Given the description of an element on the screen output the (x, y) to click on. 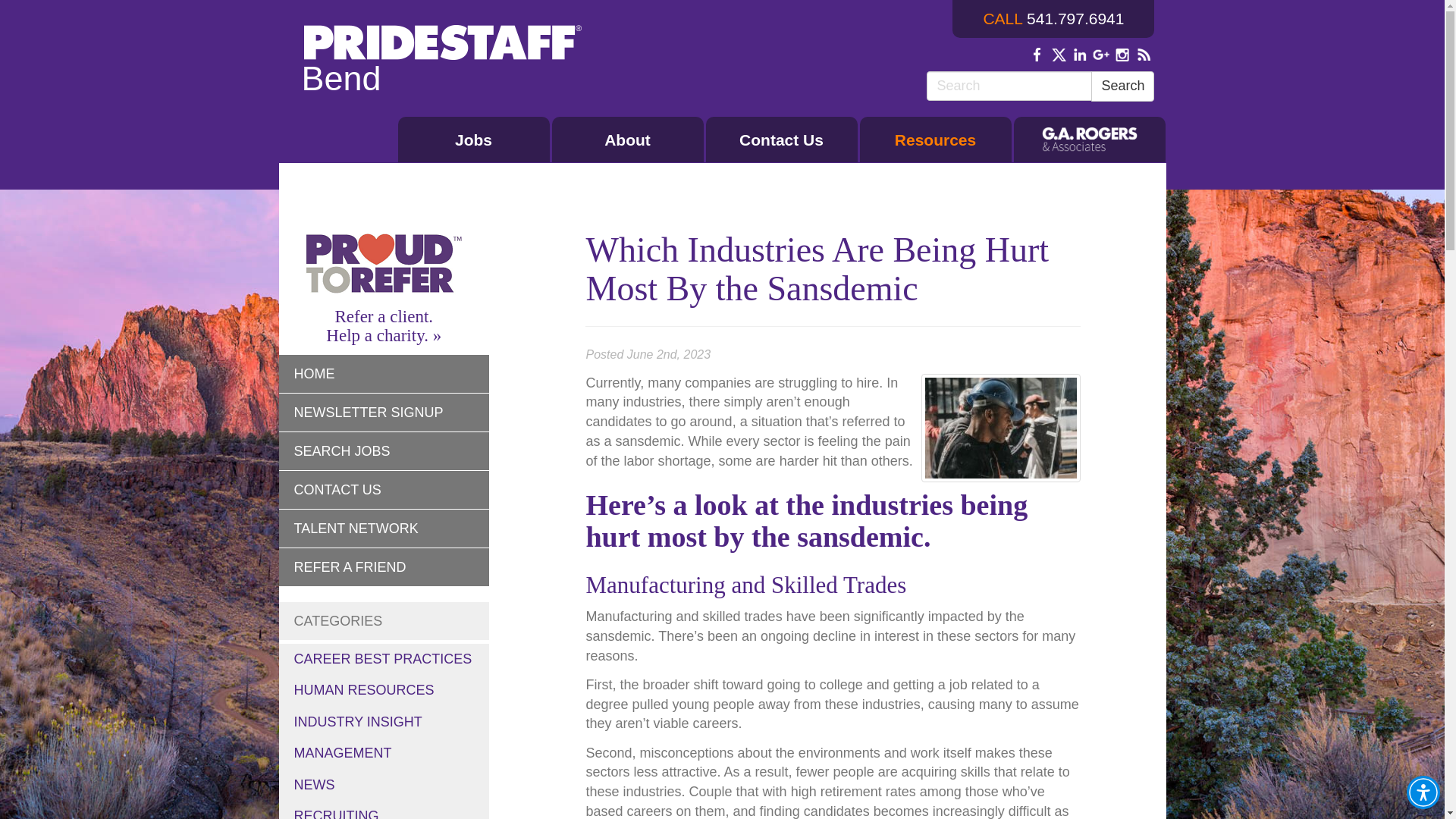
RECRUITING (384, 809)
Bend (442, 65)
Resources (935, 139)
PrideStaff - Bend (442, 65)
Search (1122, 86)
About (627, 139)
Our Blog RSS Feed (1143, 54)
REFER A FRIEND (384, 567)
Accessibility Menu (1422, 792)
SEARCH JOBS (384, 451)
NEWSLETTER SIGNUP (384, 412)
Contact Us (780, 139)
TALENT NETWORK (384, 528)
CONTACT US (384, 489)
NEWS (384, 785)
